Given the description of an element on the screen output the (x, y) to click on. 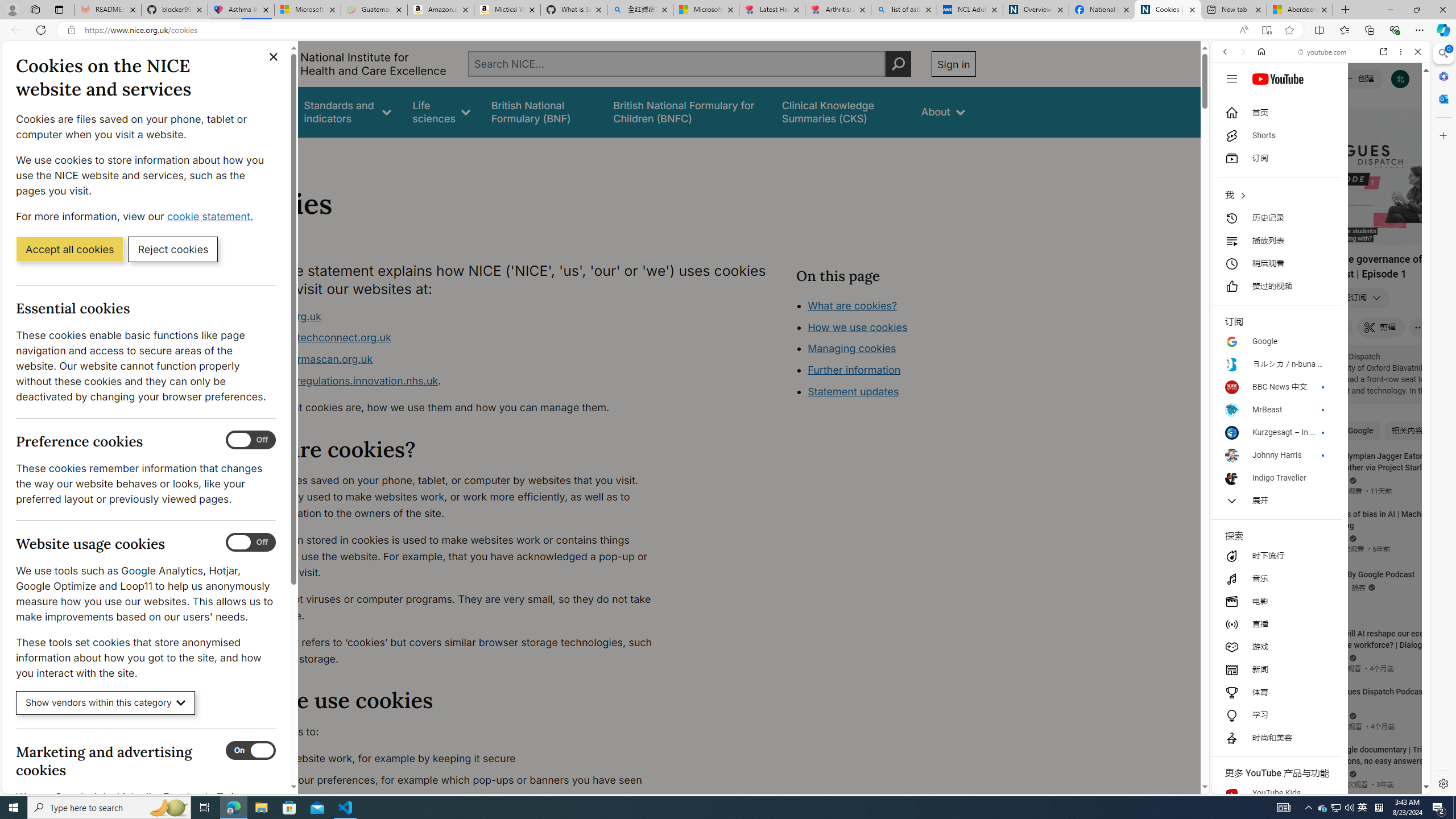
Guidance (260, 111)
cookie statement. (Opens in a new window) (211, 215)
British National Formulary for Children (BNFC) (686, 111)
Close cookie banner (273, 56)
Class: in-page-nav__list (884, 349)
www.nice.org.uk (452, 316)
Life sciences (440, 111)
Aberdeen, Hong Kong SAR hourly forecast | Microsoft Weather (1300, 9)
Asthma Inhalers: Names and Types (240, 9)
Search the web (1326, 78)
